Given the description of an element on the screen output the (x, y) to click on. 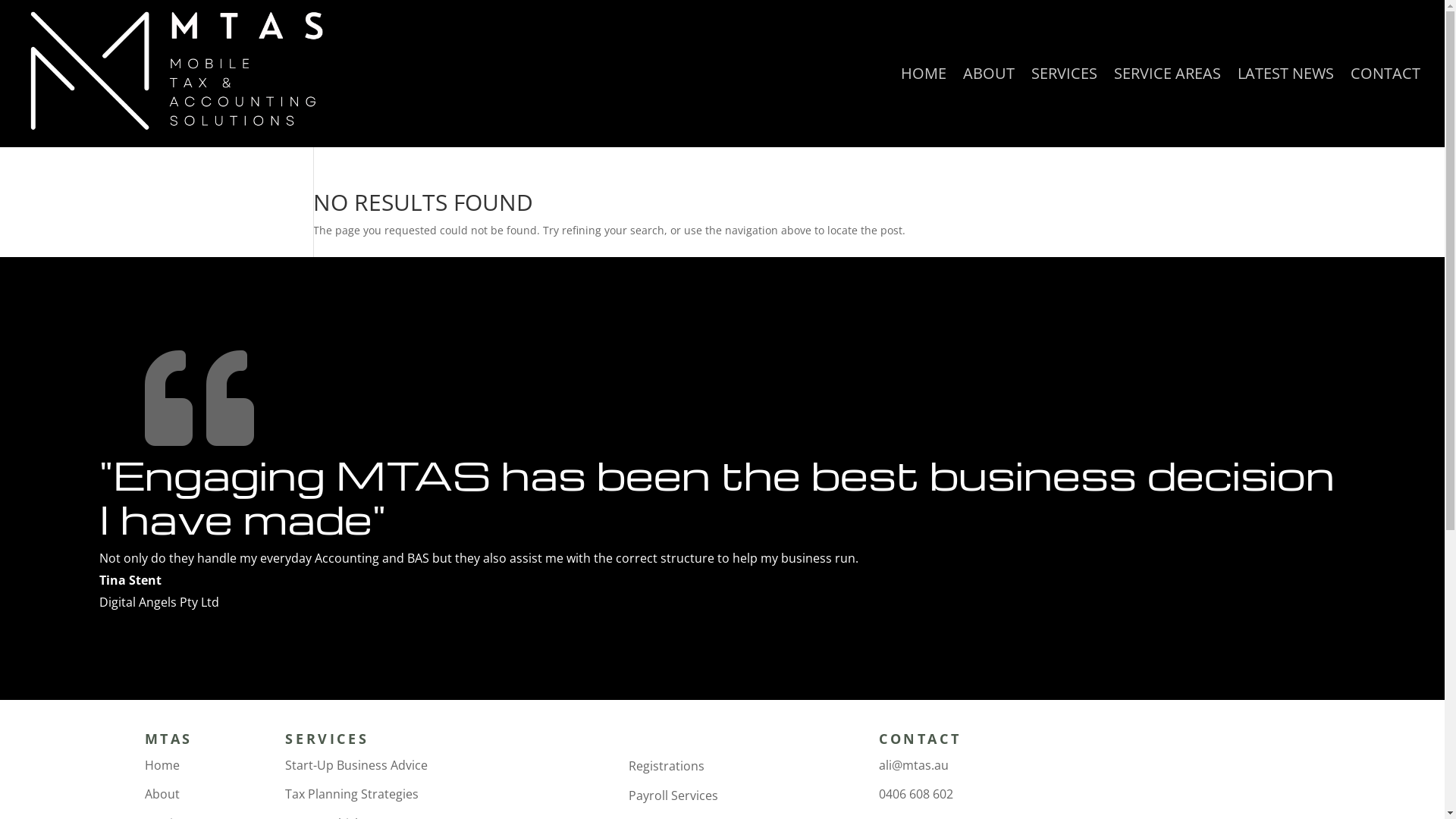
CONTACT Element type: text (919, 738)
SERVICE AREAS Element type: text (1166, 107)
CONTACT Element type: text (1385, 107)
Start-Up Business Advice Element type: text (356, 764)
LATEST NEWS Element type: text (1285, 107)
Registrations Element type: text (666, 765)
Home Element type: text (161, 764)
HOME Element type: text (923, 107)
0406 608 602 Element type: text (915, 793)
SERVICES Element type: text (1064, 107)
About Element type: text (161, 793)
ali@mtas.au Element type: text (913, 764)
Tax Planning Strategies Element type: text (351, 793)
ABOUT Element type: text (988, 107)
Payroll Services Element type: text (673, 795)
